Given the description of an element on the screen output the (x, y) to click on. 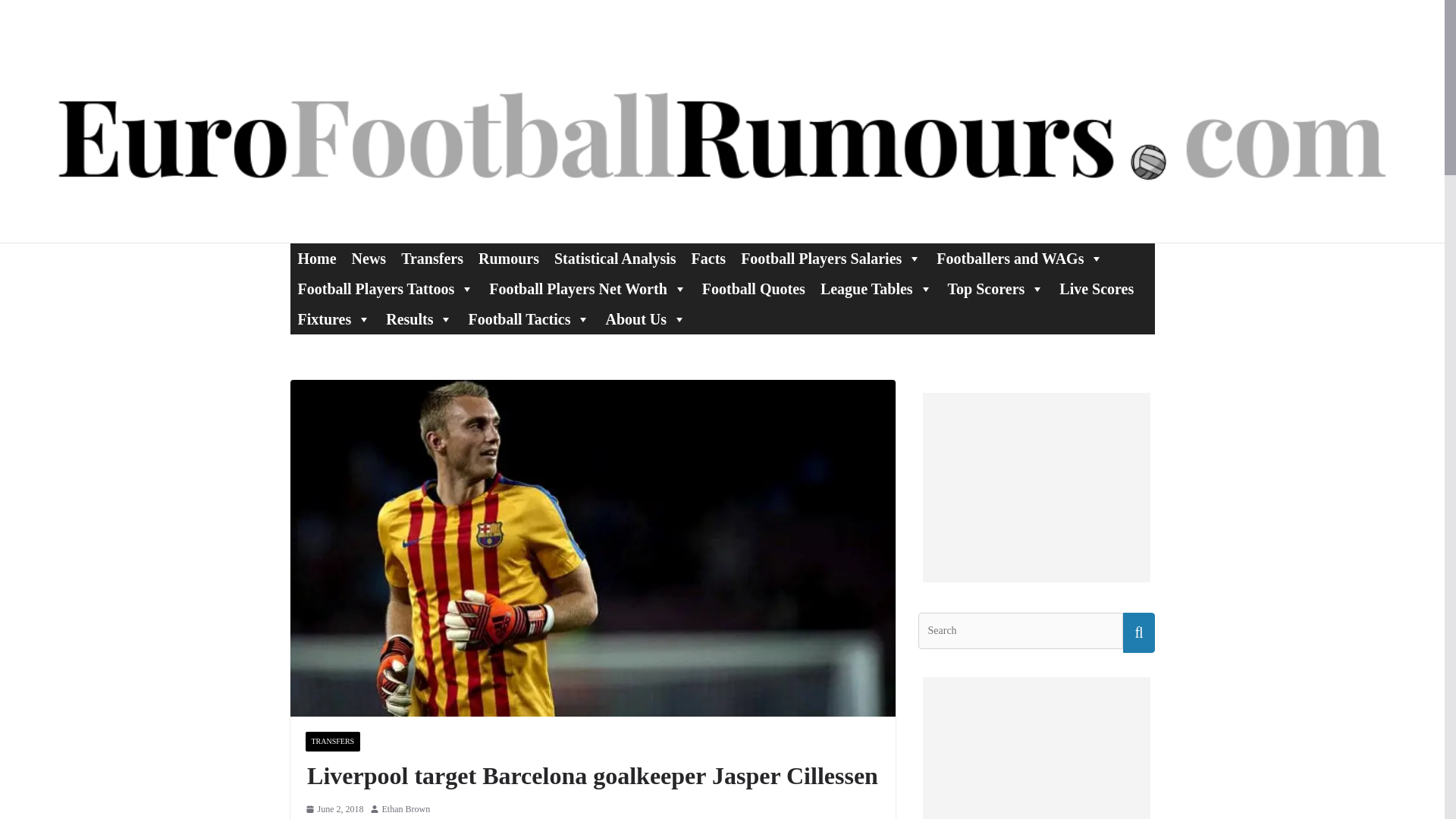
Rumours (508, 258)
Home (316, 258)
7:24 am (333, 809)
Ethan Brown (405, 809)
Football Players Salaries (830, 258)
Transfers (431, 258)
Statistical Analysis (615, 258)
Facts (708, 258)
News (368, 258)
